Given the description of an element on the screen output the (x, y) to click on. 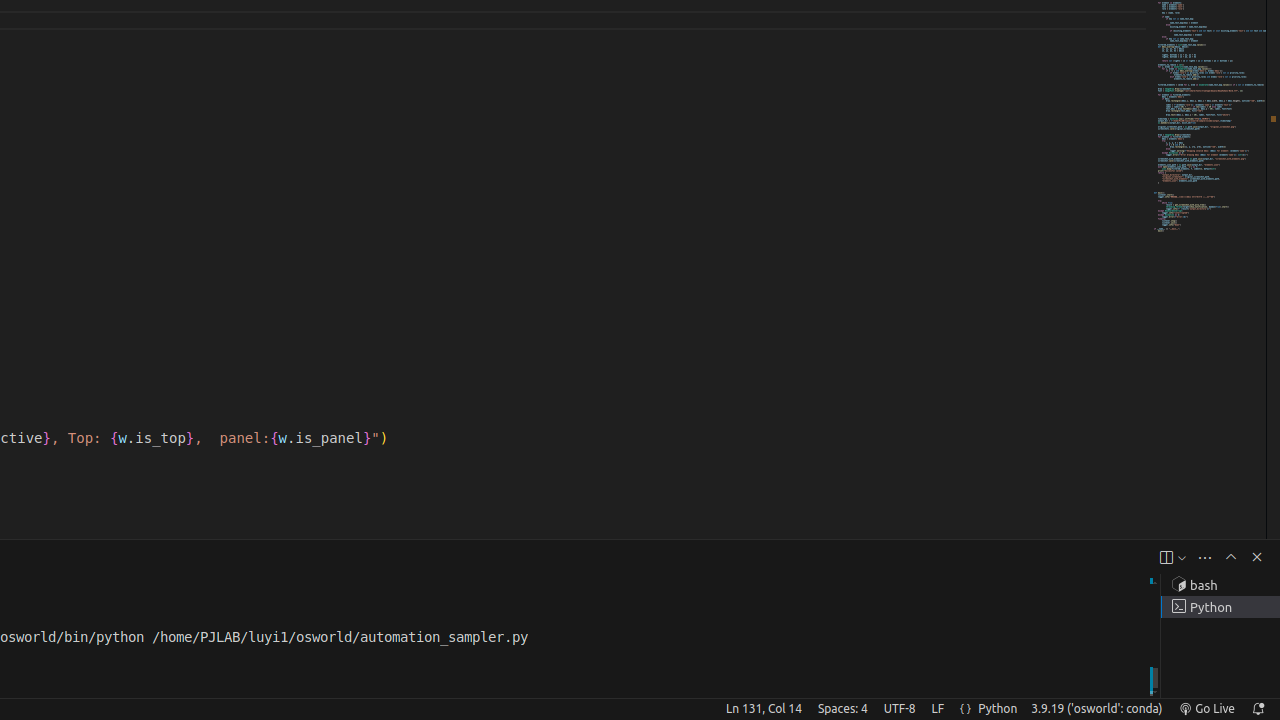
Terminal 1 bash Element type: list-item (1220, 585)
Hide Panel Element type: push-button (1257, 557)
LF Element type: push-button (938, 709)
Launch Profile... Element type: push-button (1182, 557)
broadcast Go Live, Click to run live server Element type: push-button (1206, 709)
